Given the description of an element on the screen output the (x, y) to click on. 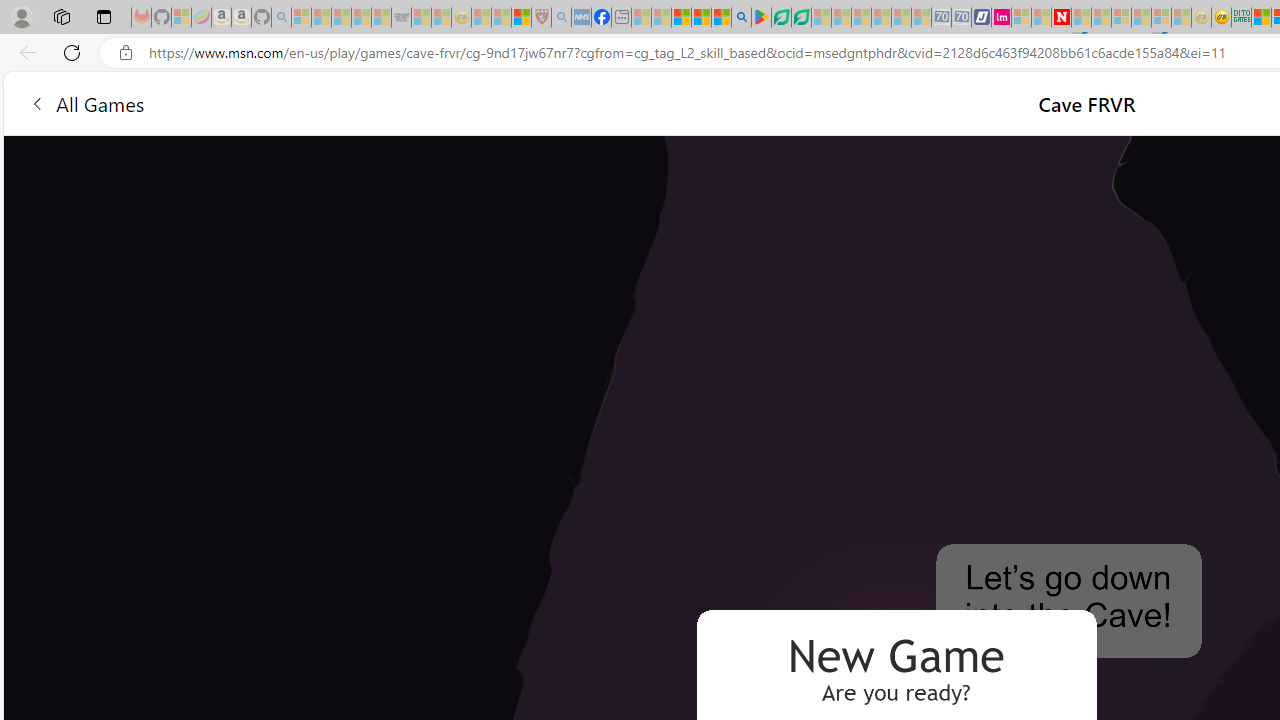
Microsoft-Report a Concern to Bing - Sleeping (180, 17)
Robert H. Shmerling, MD - Harvard Health - Sleeping (541, 17)
Latest Politics News & Archive | Newsweek.com (1061, 17)
Bluey: Let's Play! - Apps on Google Play (760, 17)
Jobs - lastminute.com Investor Portal (1001, 17)
Microsoft Word - consumer-privacy address update 2.2021 (801, 17)
New Report Confirms 2023 Was Record Hot | Watch - Sleeping (381, 17)
All Games (380, 102)
Pets - MSN (701, 17)
Microsoft account | Privacy - Sleeping (1021, 17)
